Given the description of an element on the screen output the (x, y) to click on. 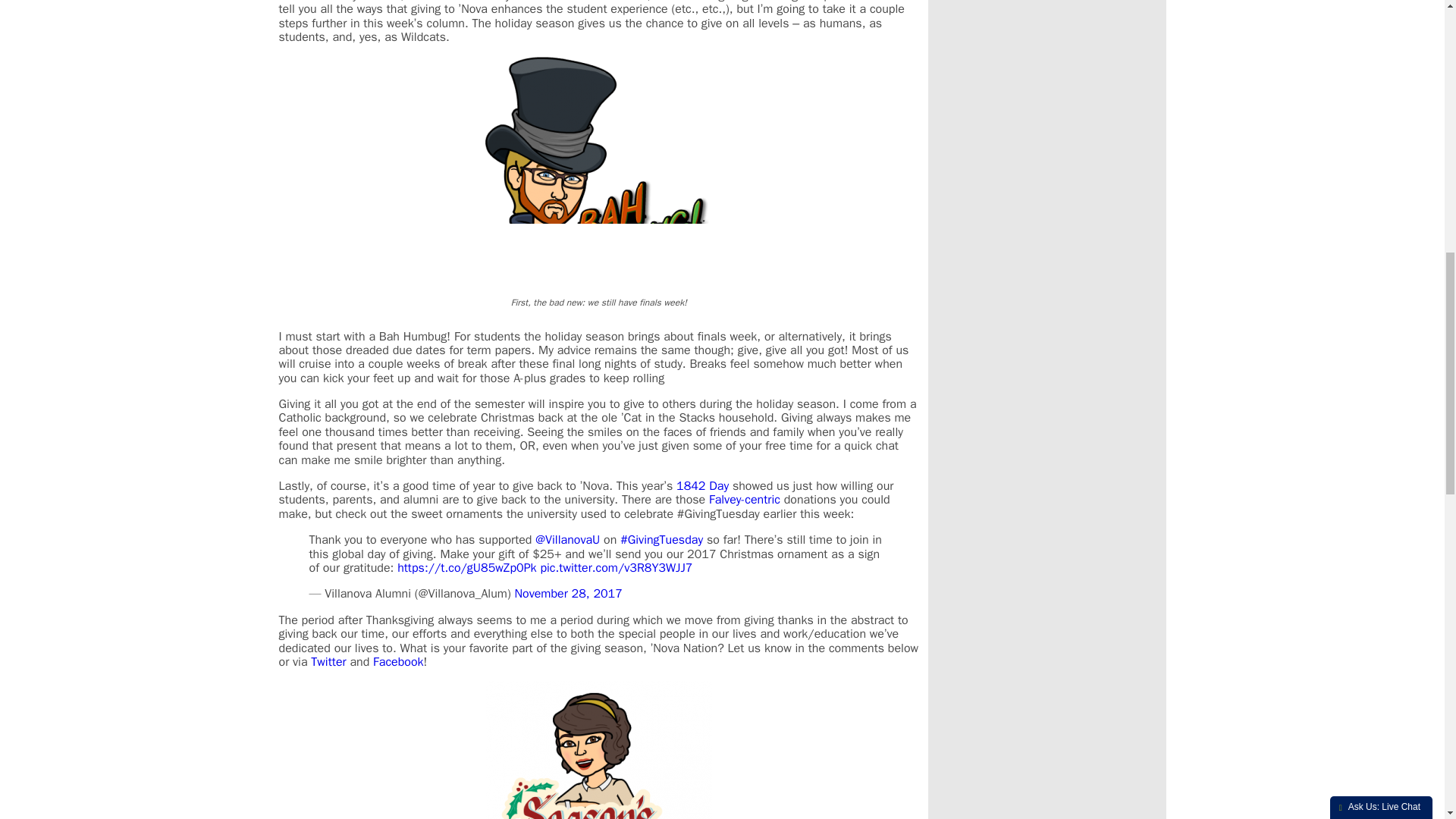
Facebook (397, 661)
Twitter (328, 661)
Falvey-centric (744, 499)
1842 Day (704, 485)
November 28, 2017 (567, 593)
